Given the description of an element on the screen output the (x, y) to click on. 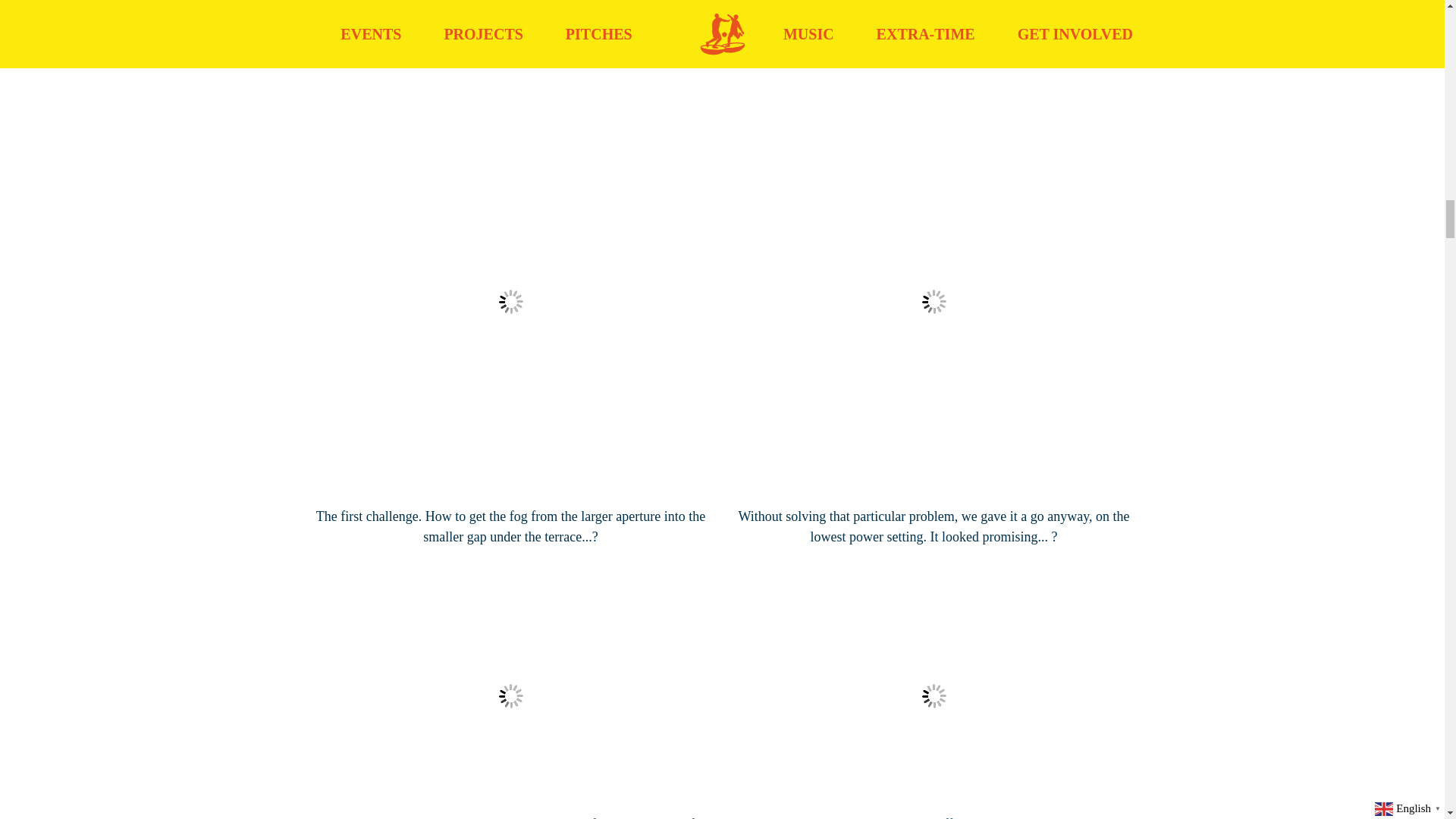
Fog   First attempt (510, 696)
Flick in the Fog (933, 696)
